Given the description of an element on the screen output the (x, y) to click on. 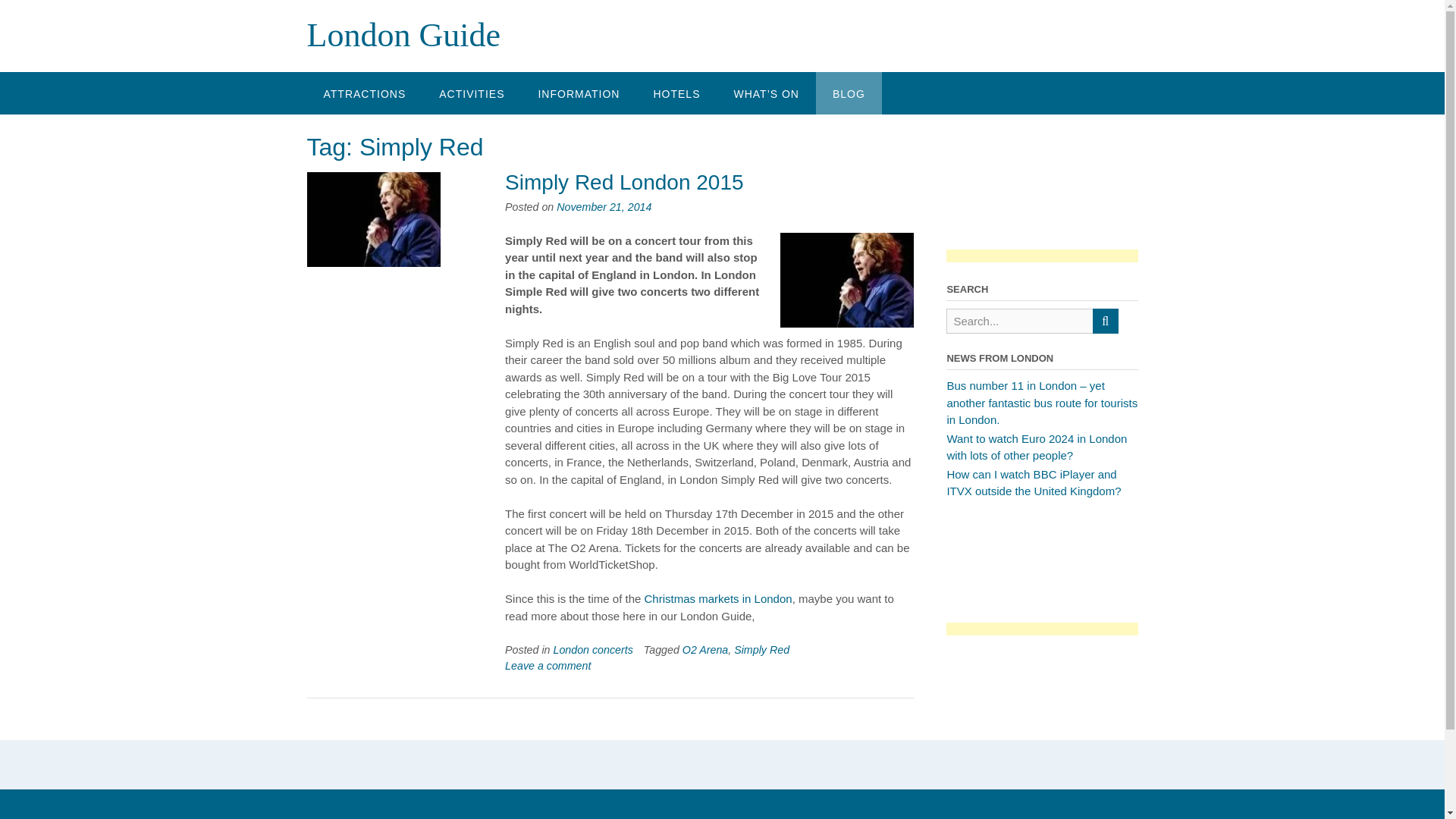
INFORMATION (578, 92)
London Guide (402, 35)
ATTRACTIONS (363, 92)
Christmas Markets (718, 598)
London Guide (402, 35)
Search for: (1019, 320)
ACTIVITIES (471, 92)
